Given the description of an element on the screen output the (x, y) to click on. 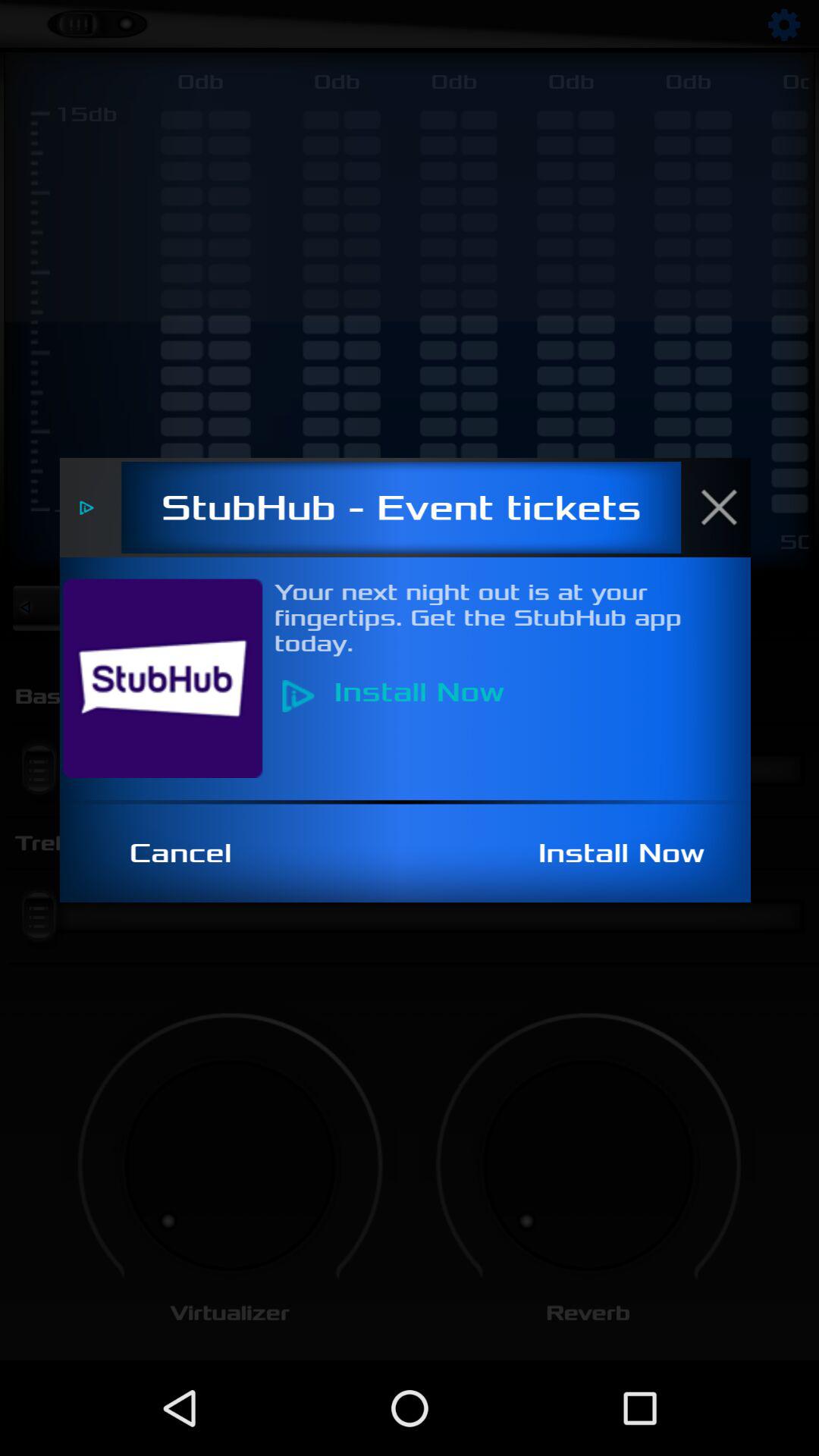
choose item to the left of the install now item (188, 853)
